Given the description of an element on the screen output the (x, y) to click on. 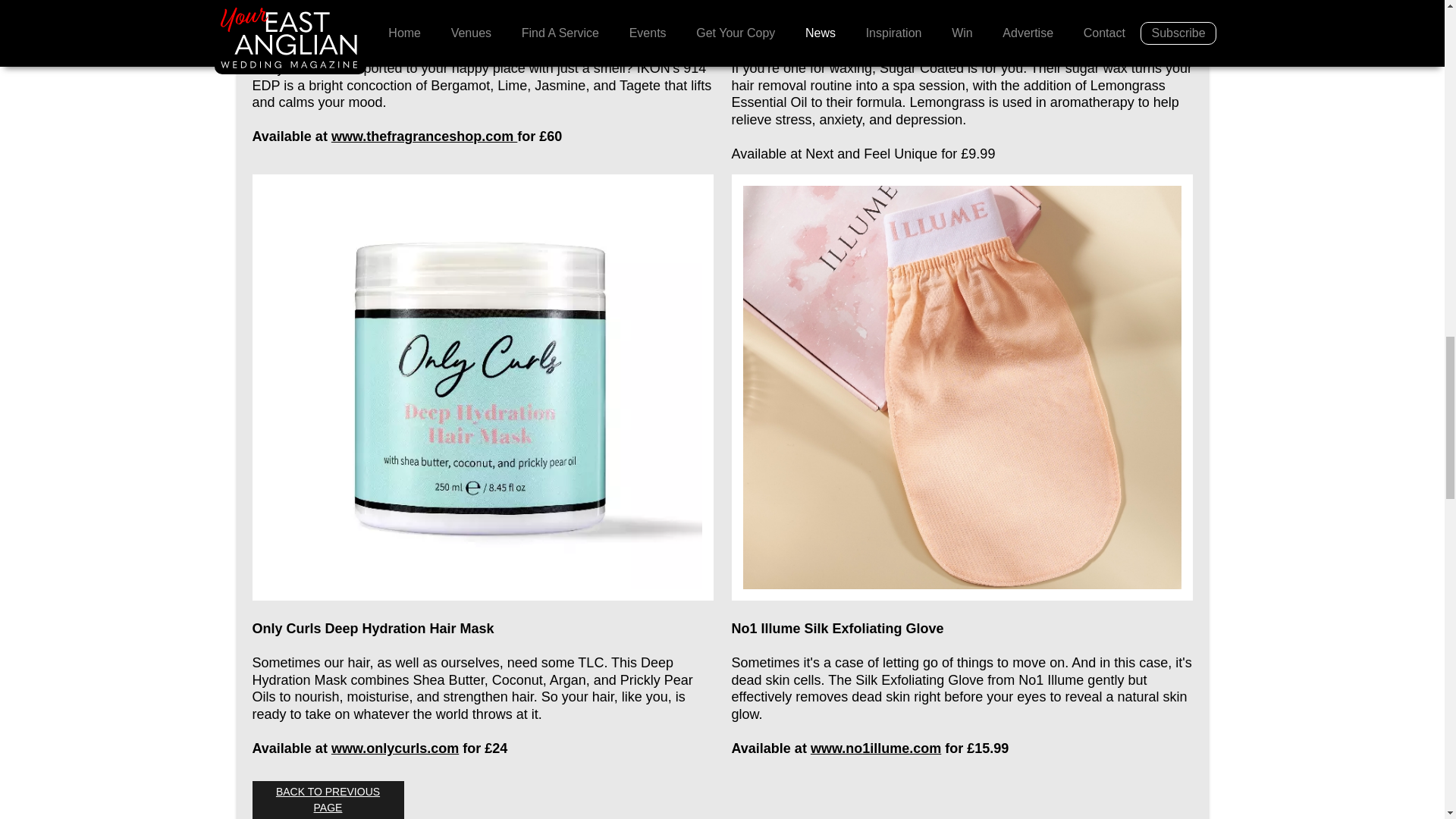
BACK TO PREVIOUS PAGE (327, 800)
Back to previous page (327, 800)
www.onlycurls.com (394, 748)
www.no1illume.com (875, 748)
www.thefragranceshop.com (423, 136)
